Given the description of an element on the screen output the (x, y) to click on. 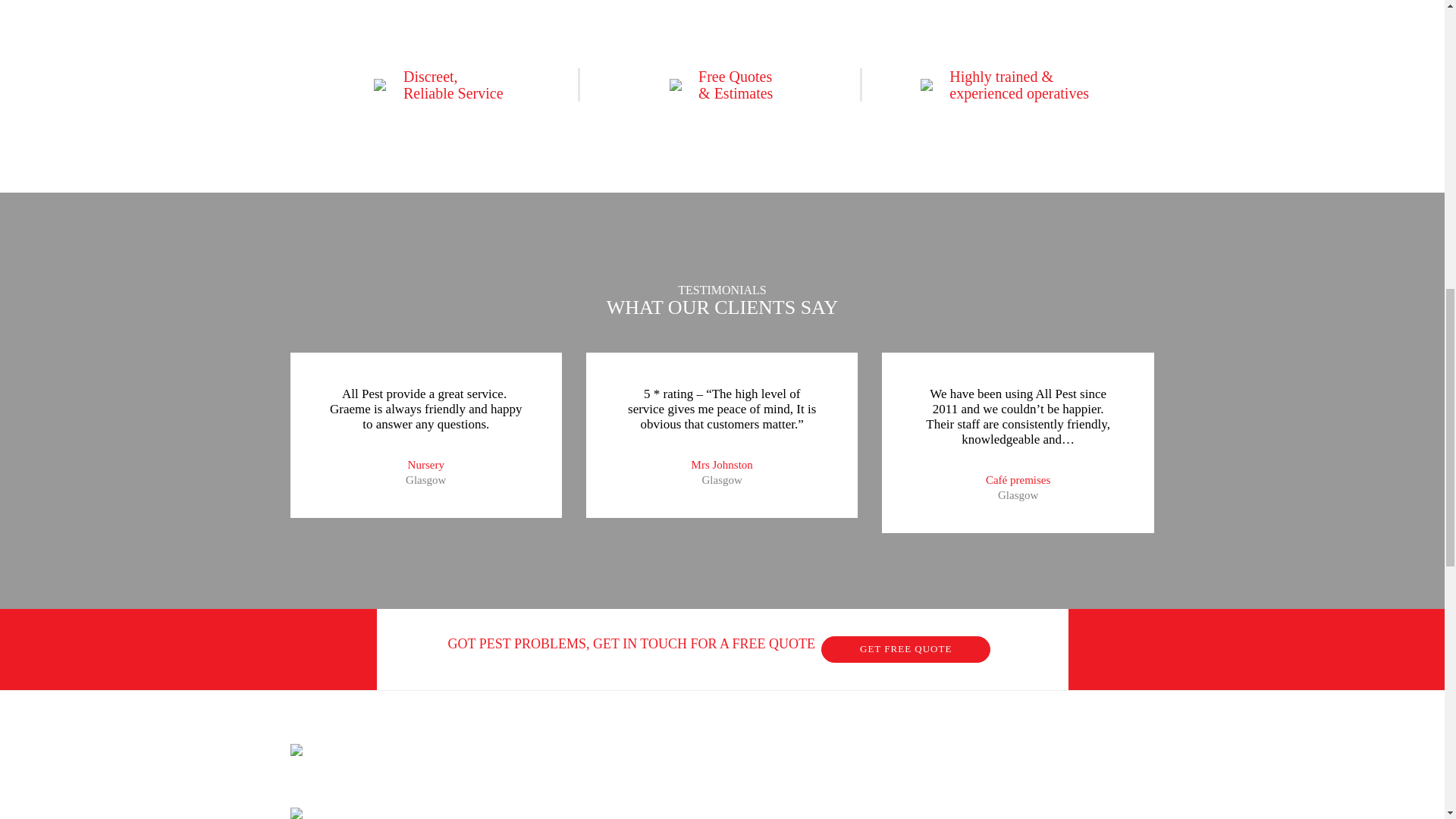
GET FREE QUOTE (905, 649)
